Given the description of an element on the screen output the (x, y) to click on. 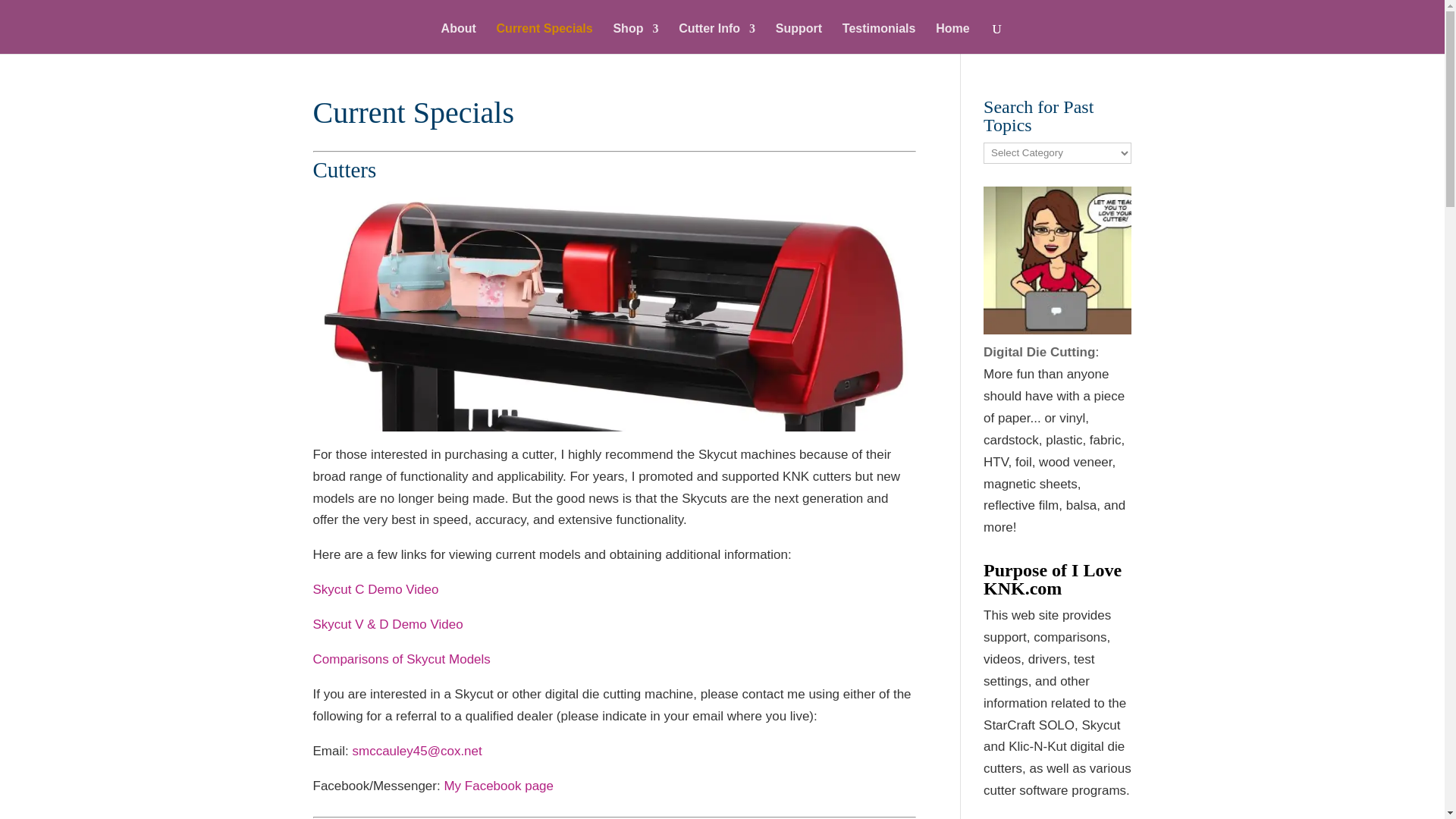
Home (952, 38)
Testimonials (879, 38)
Cutter Info (716, 38)
About (458, 38)
Shop (635, 38)
Sandy McCauley (1057, 260)
Support (799, 38)
Current Specials (544, 38)
